Given the description of an element on the screen output the (x, y) to click on. 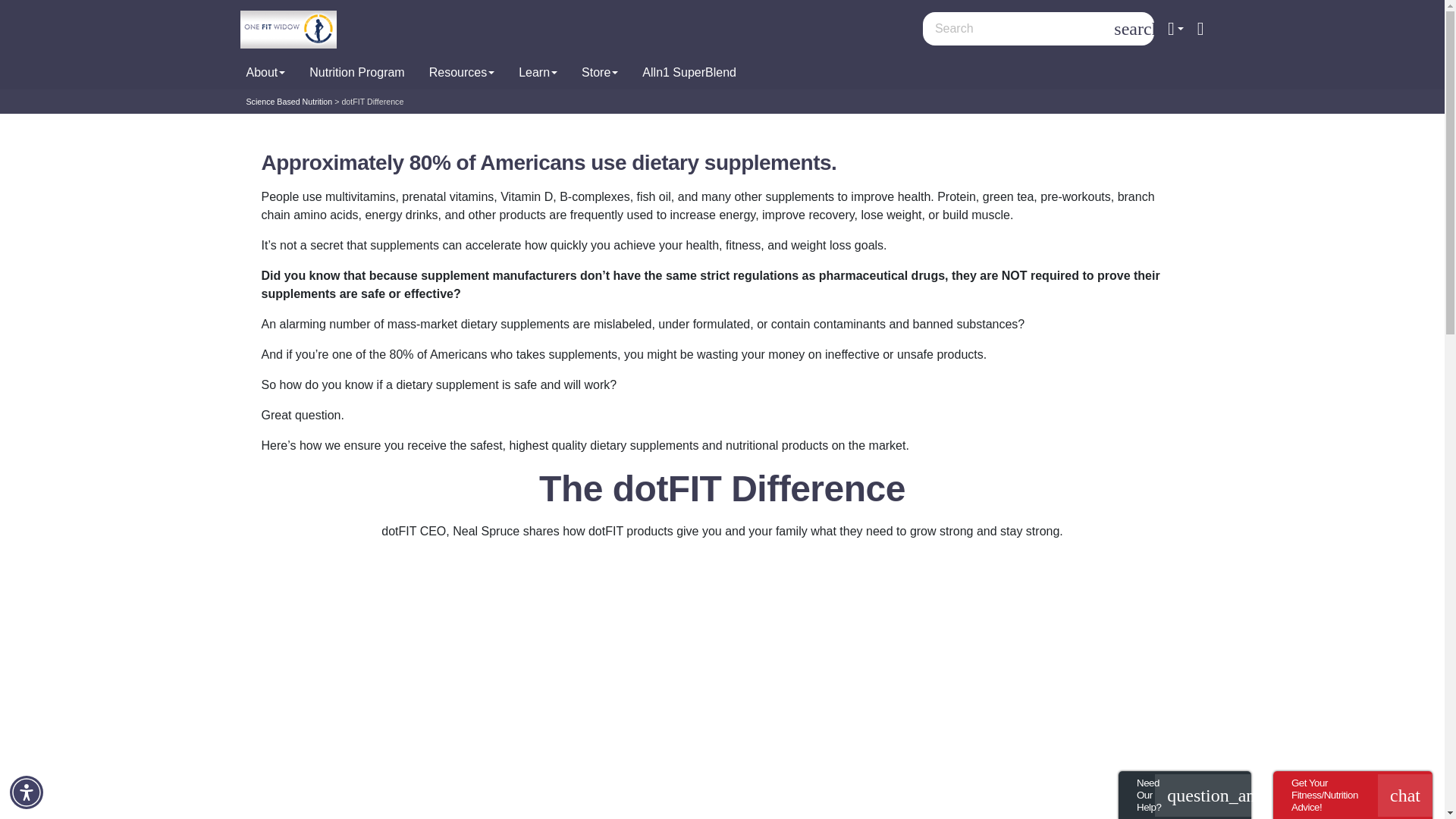
Learn (537, 73)
Accessibility Menu (26, 792)
Store (599, 73)
Resources (461, 73)
Nutrition Program (356, 73)
Alln1 SuperBlend (689, 73)
About (264, 73)
